Given the description of an element on the screen output the (x, y) to click on. 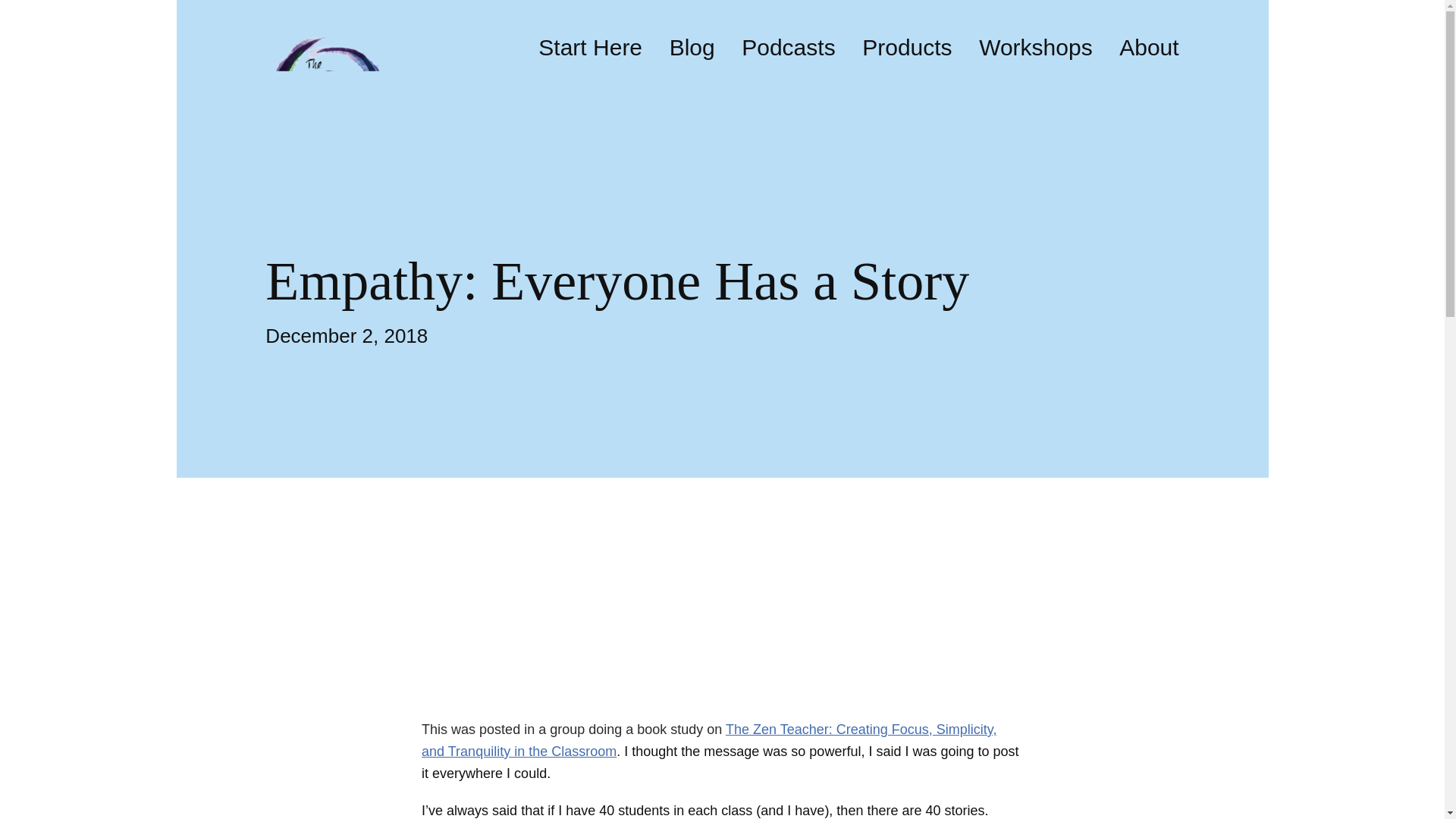
About (1148, 47)
Products (906, 47)
Start Here (590, 47)
Workshops (1035, 47)
Podcasts (787, 47)
Blog (691, 47)
